Given the description of an element on the screen output the (x, y) to click on. 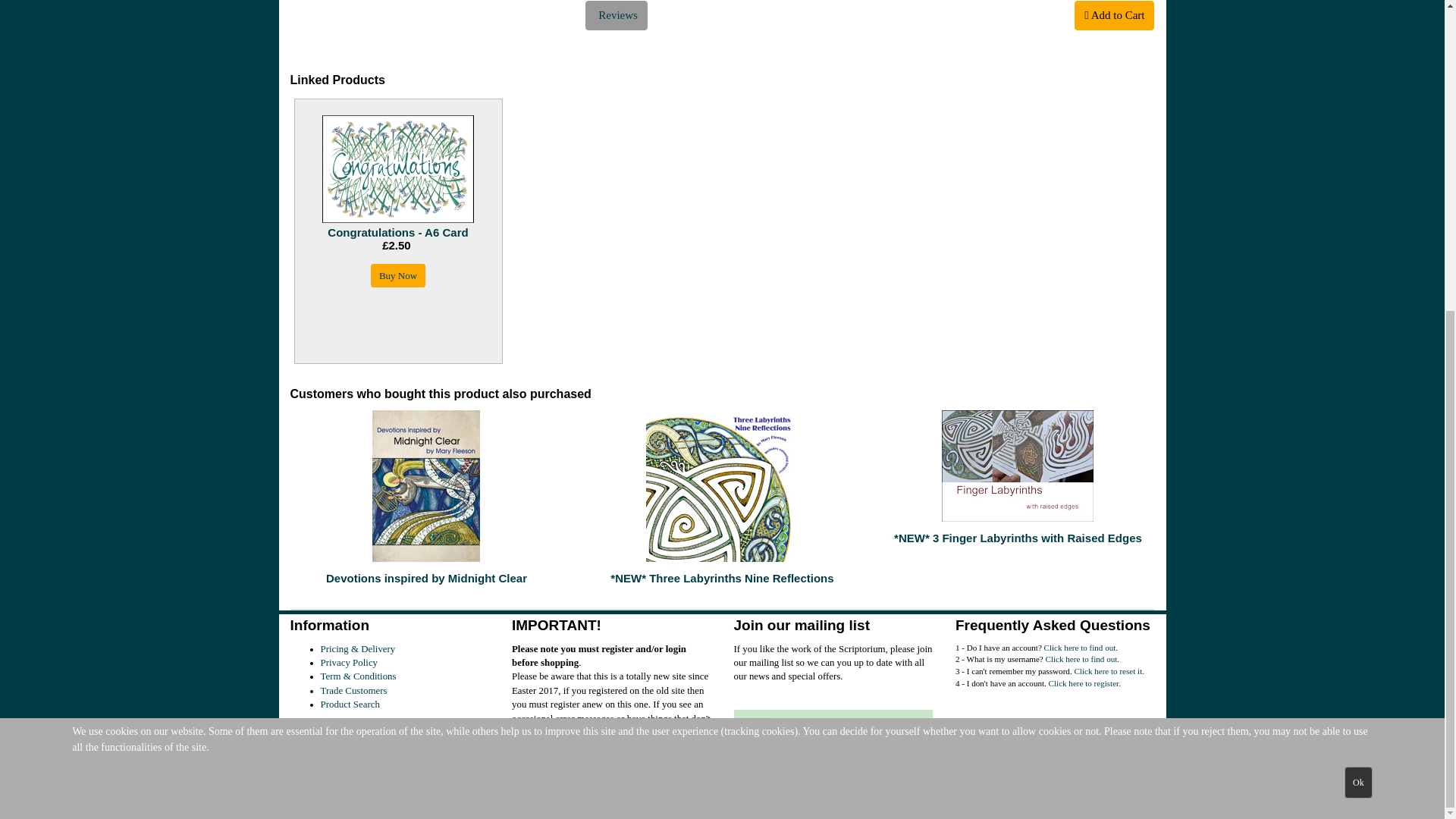
Devotions inspired by Midnight Clear (426, 485)
Congratulations - A6 Card (397, 168)
